Given the description of an element on the screen output the (x, y) to click on. 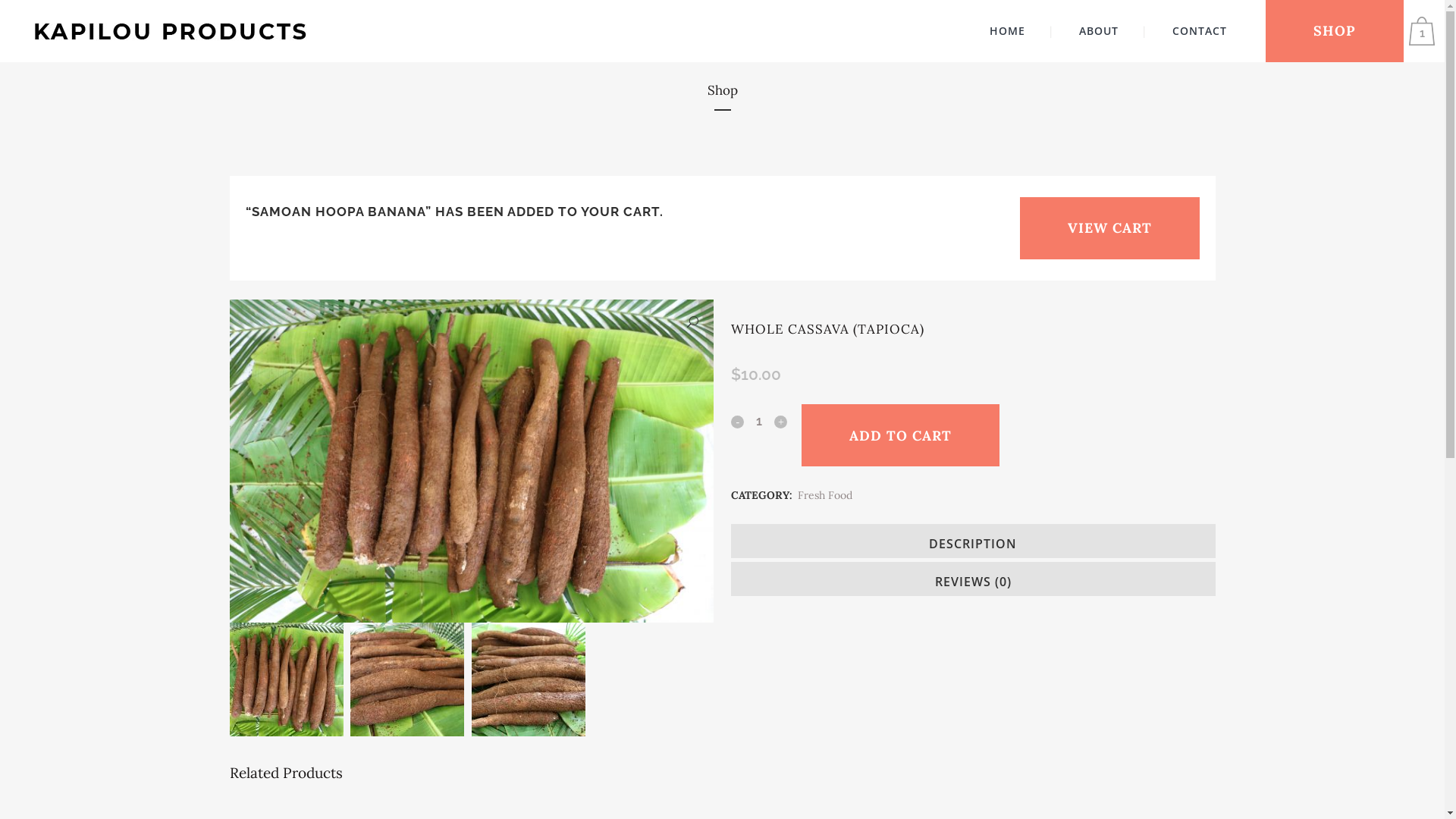
Qty Element type: hover (758, 420)
IMG_3630 Element type: hover (470, 460)
SHOP Element type: text (1334, 31)
HOME Element type: text (1007, 31)
ADD TO CART Element type: text (900, 435)
CONTACT Element type: text (1199, 31)
VIEW CART Element type: text (1108, 228)
IMG_3633 Element type: hover (954, 460)
1 Element type: text (1424, 30)
Fresh Food Element type: text (824, 495)
ABOUT Element type: text (1098, 31)
